Given the description of an element on the screen output the (x, y) to click on. 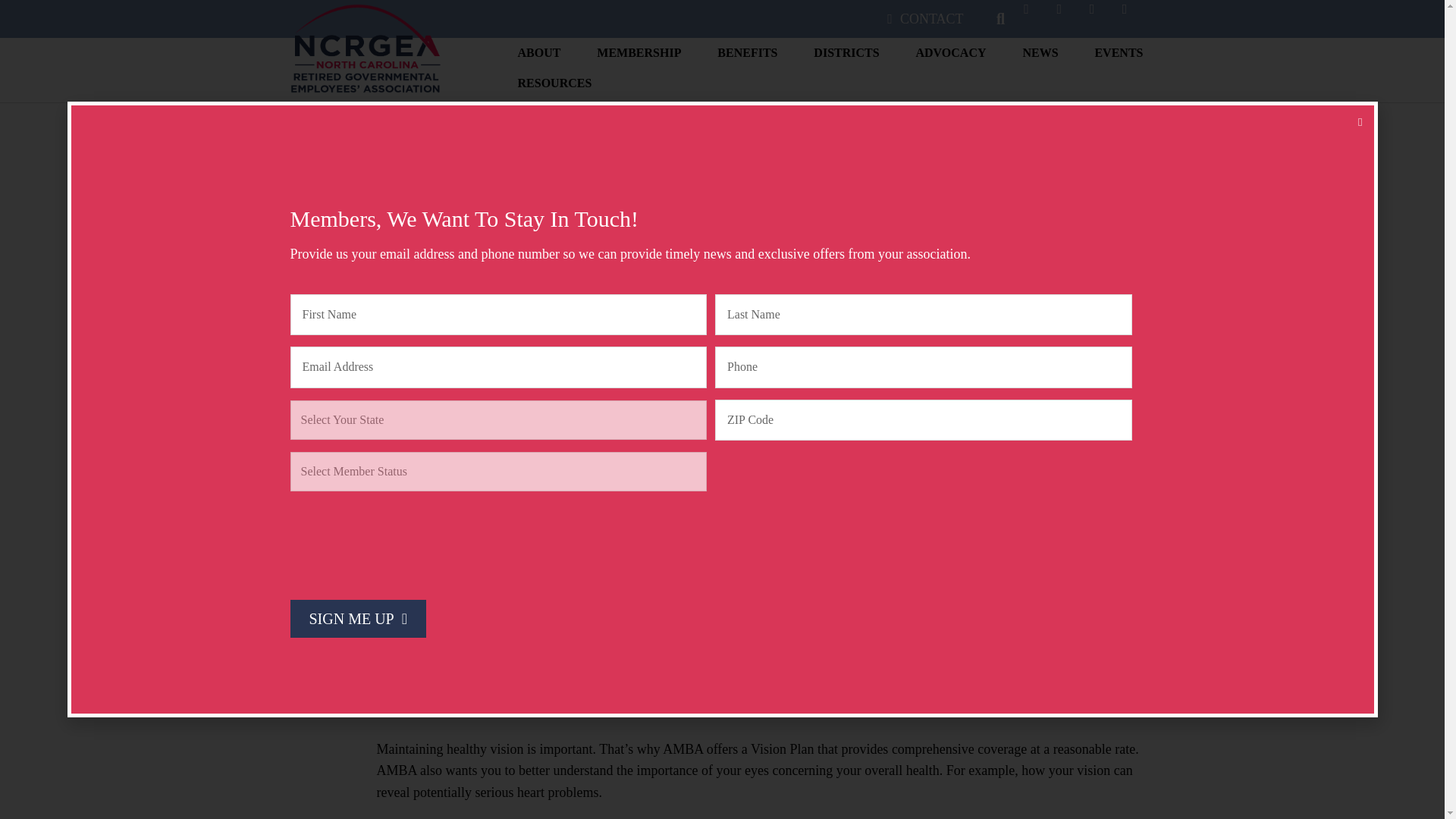
ABOUT (539, 56)
CONTACT (925, 19)
